Given the description of an element on the screen output the (x, y) to click on. 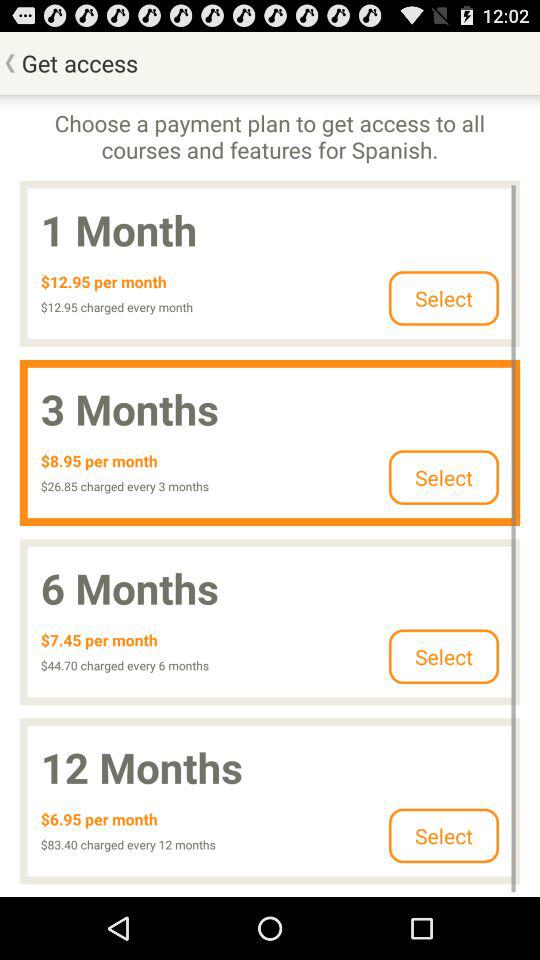
clcik on select button which is at bottom (443, 836)
go to select in second row (443, 477)
